Given the description of an element on the screen output the (x, y) to click on. 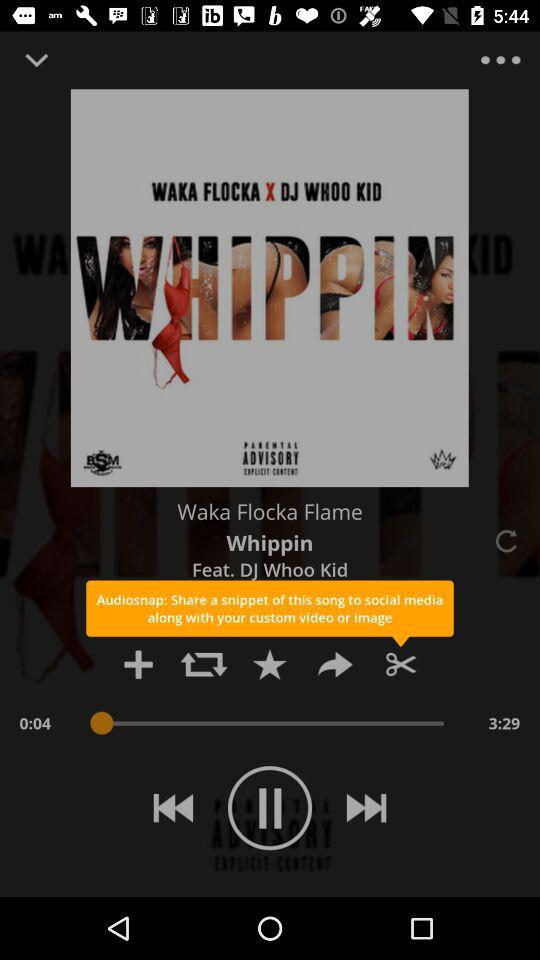
click the image above the text waka flocka flame (269, 288)
select the icon which is before the forward icon (269, 664)
click the share icon (334, 664)
click on the play back button (172, 807)
click the text beside the reload icon (269, 542)
